Given the description of an element on the screen output the (x, y) to click on. 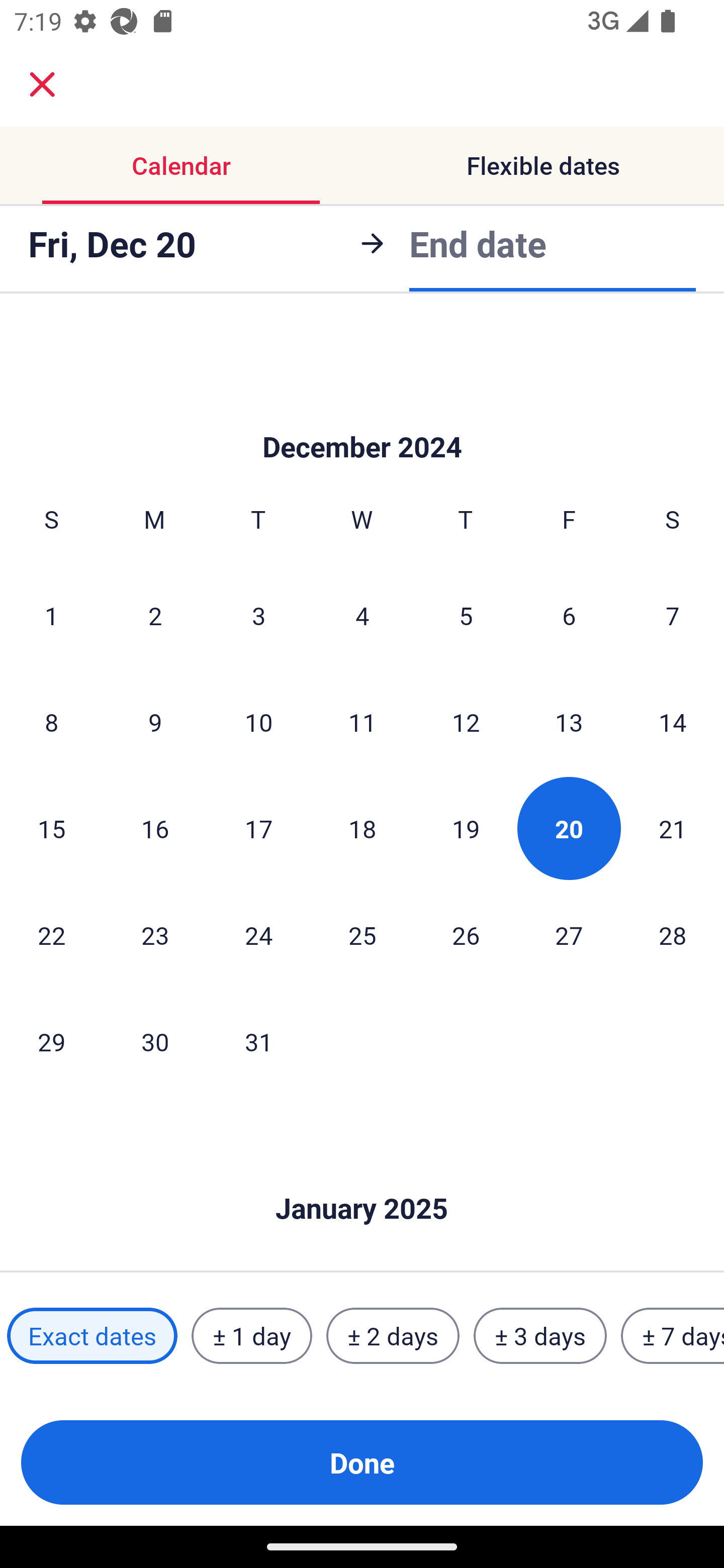
close. (42, 84)
Flexible dates (542, 164)
End date (477, 240)
Skip to Done (362, 416)
1 Sunday, December 1, 2024 (51, 615)
2 Monday, December 2, 2024 (155, 615)
3 Tuesday, December 3, 2024 (258, 615)
4 Wednesday, December 4, 2024 (362, 615)
5 Thursday, December 5, 2024 (465, 615)
6 Friday, December 6, 2024 (569, 615)
7 Saturday, December 7, 2024 (672, 615)
8 Sunday, December 8, 2024 (51, 722)
9 Monday, December 9, 2024 (155, 722)
10 Tuesday, December 10, 2024 (258, 722)
11 Wednesday, December 11, 2024 (362, 722)
12 Thursday, December 12, 2024 (465, 722)
13 Friday, December 13, 2024 (569, 722)
14 Saturday, December 14, 2024 (672, 722)
15 Sunday, December 15, 2024 (51, 828)
16 Monday, December 16, 2024 (155, 828)
17 Tuesday, December 17, 2024 (258, 828)
18 Wednesday, December 18, 2024 (362, 828)
19 Thursday, December 19, 2024 (465, 828)
21 Saturday, December 21, 2024 (672, 828)
22 Sunday, December 22, 2024 (51, 934)
23 Monday, December 23, 2024 (155, 934)
24 Tuesday, December 24, 2024 (258, 934)
25 Wednesday, December 25, 2024 (362, 934)
26 Thursday, December 26, 2024 (465, 934)
27 Friday, December 27, 2024 (569, 934)
28 Saturday, December 28, 2024 (672, 934)
29 Sunday, December 29, 2024 (51, 1040)
30 Monday, December 30, 2024 (155, 1040)
31 Tuesday, December 31, 2024 (258, 1040)
Skip to Done (362, 1178)
Exact dates (92, 1335)
± 1 day (251, 1335)
± 2 days (392, 1335)
± 3 days (539, 1335)
± 7 days (672, 1335)
Done (361, 1462)
